Given the description of an element on the screen output the (x, y) to click on. 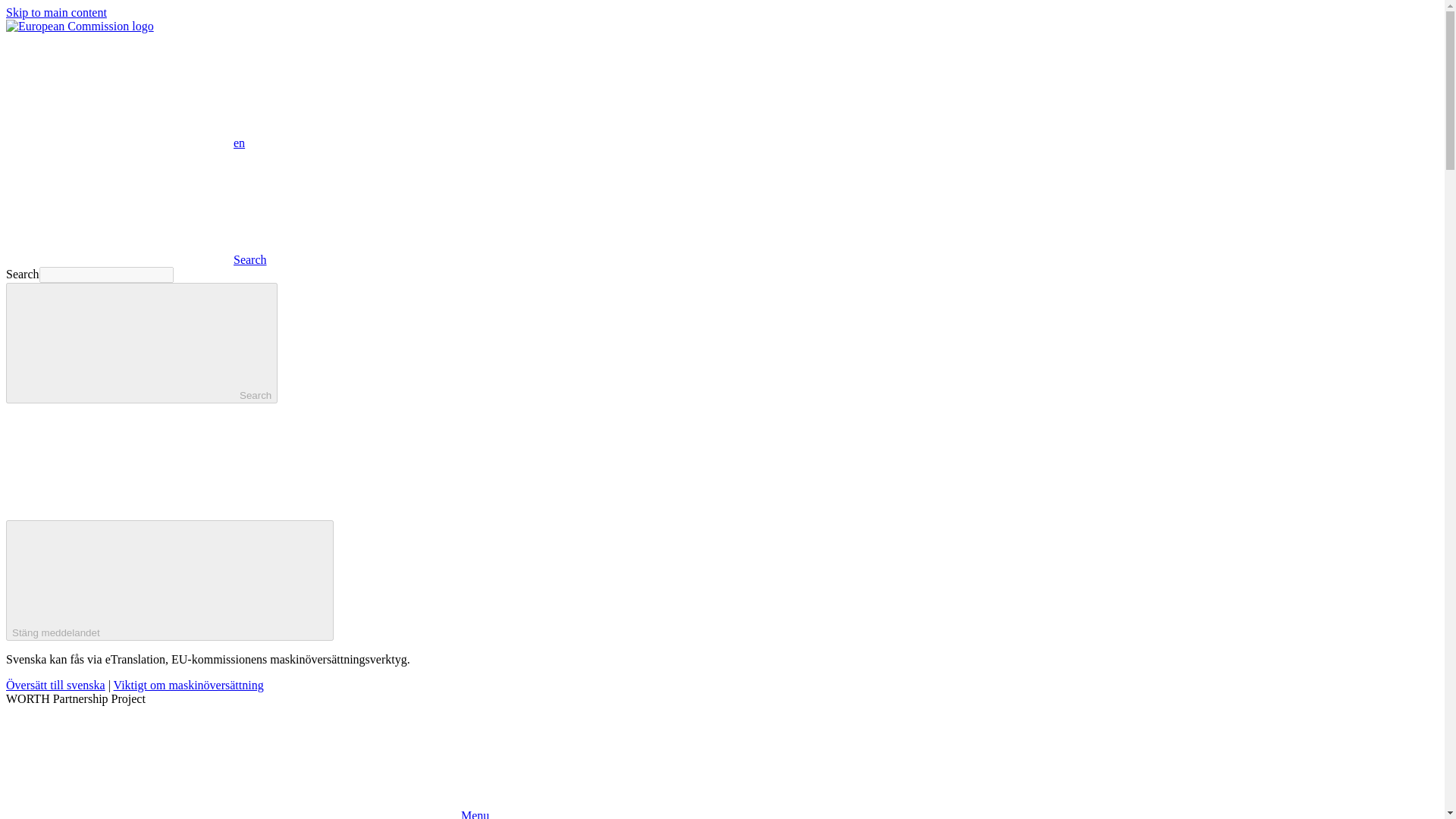
European Commission (79, 25)
enen (124, 142)
Search (141, 342)
Skip to main content (55, 11)
en (118, 90)
Search (135, 259)
Menu (247, 814)
